Given the description of an element on the screen output the (x, y) to click on. 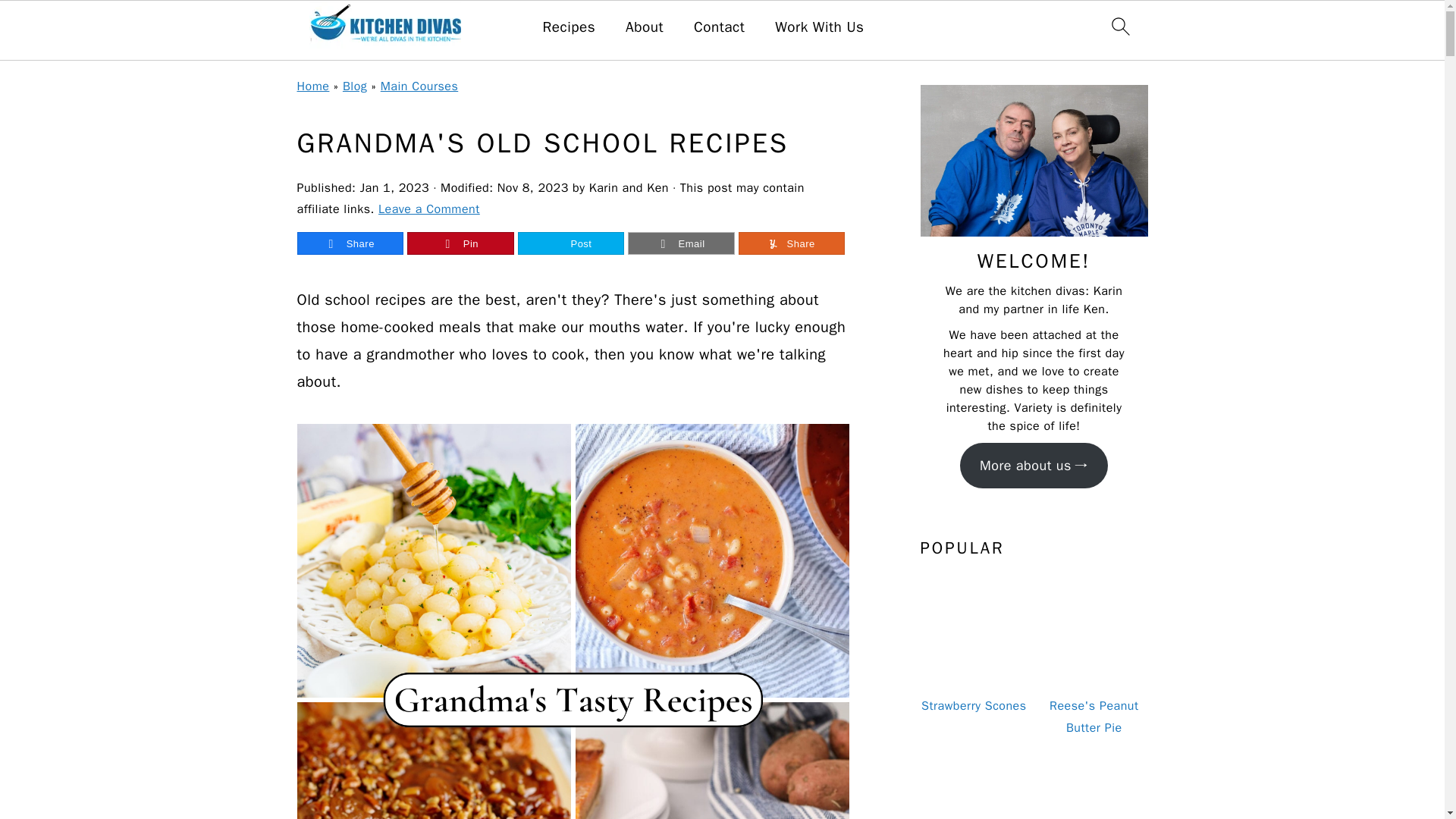
Recipes (569, 27)
About (644, 27)
Contact (719, 27)
Leave a Comment (429, 209)
Home (313, 86)
Email (680, 243)
Share (350, 243)
Blog (354, 86)
Main Courses (419, 86)
Work With Us (818, 27)
